Given the description of an element on the screen output the (x, y) to click on. 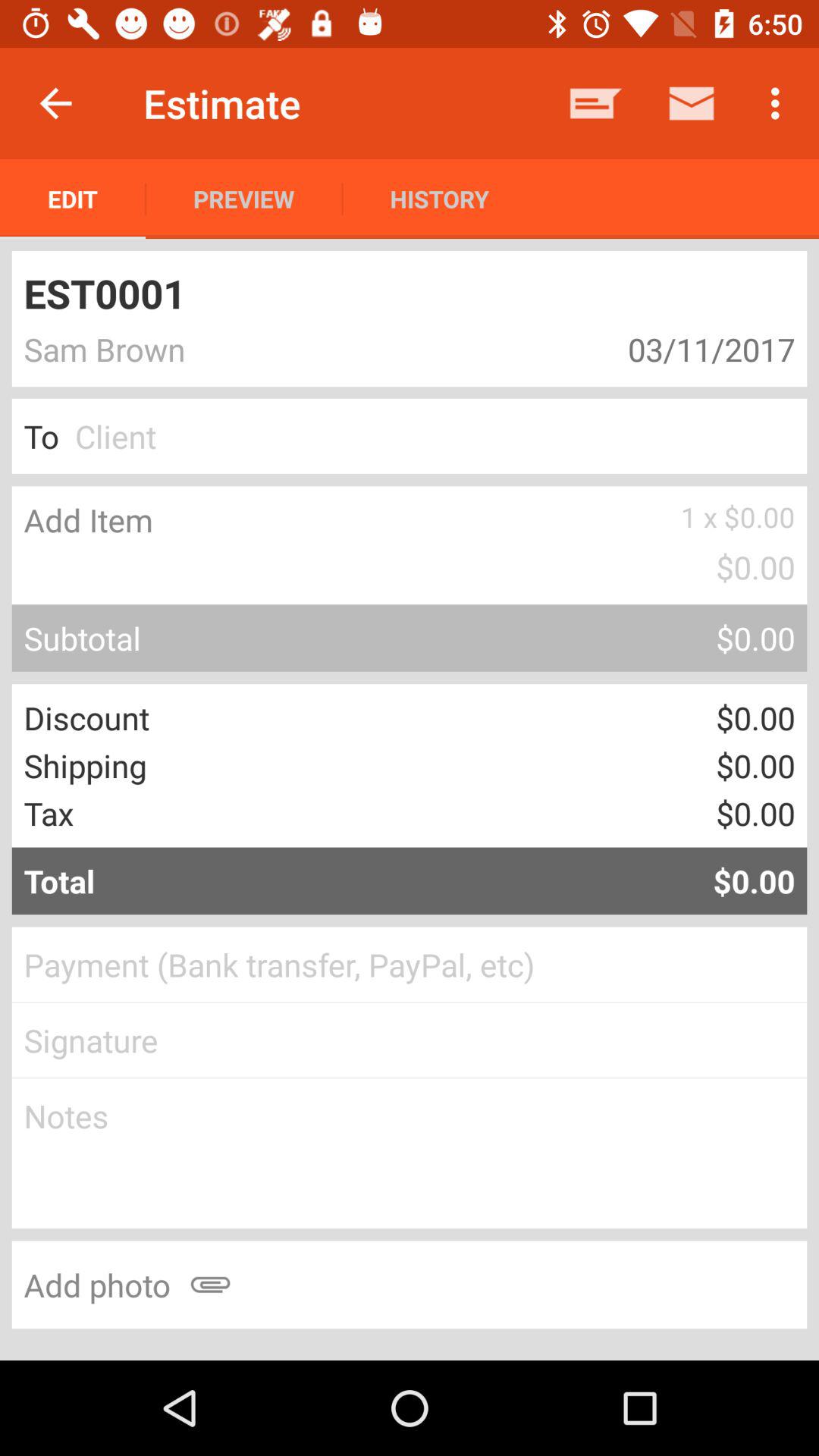
click item above the edit app (55, 103)
